Given the description of an element on the screen output the (x, y) to click on. 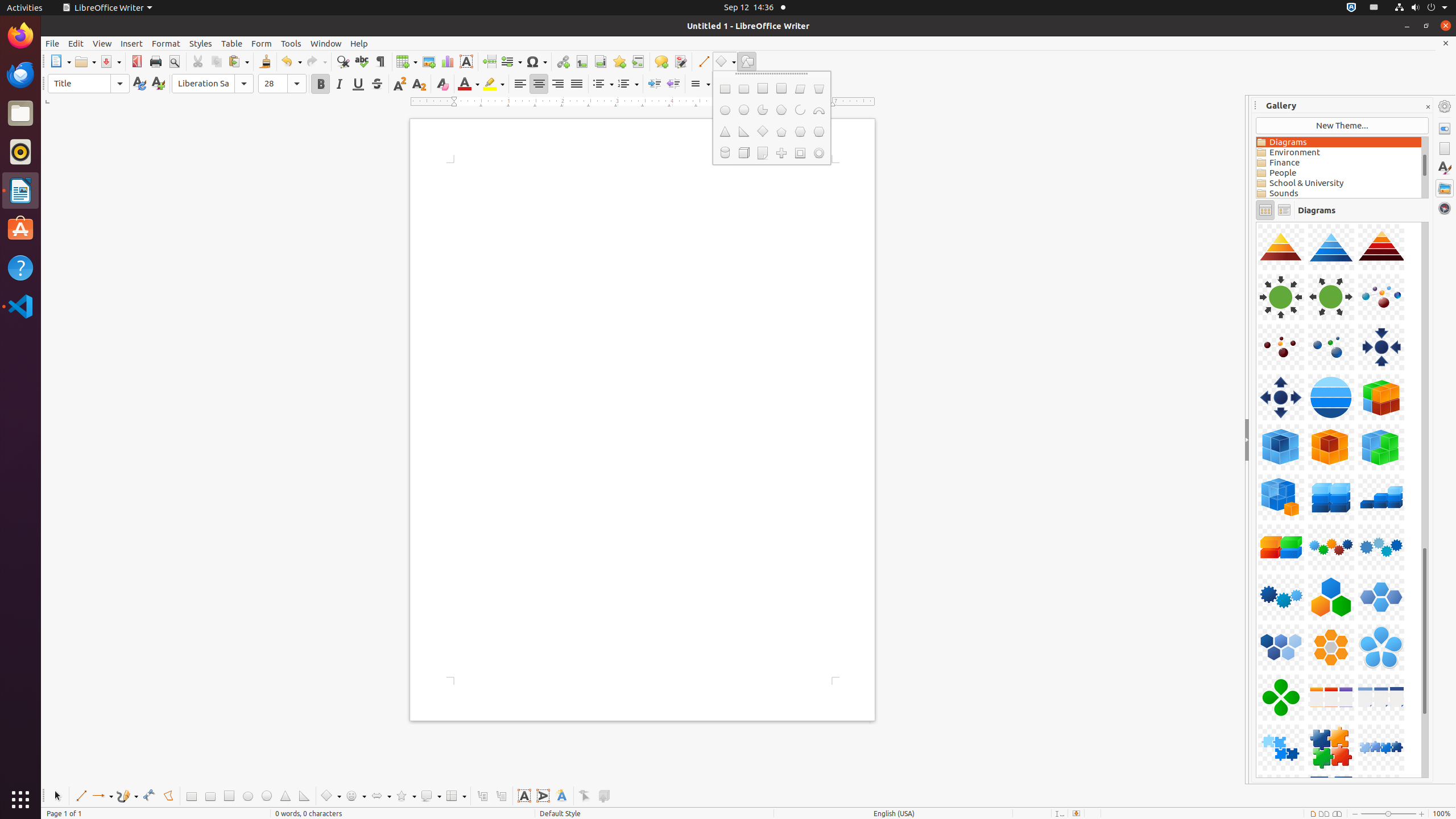
Left Element type: toggle-button (519, 83)
Window Element type: menu (325, 43)
Draw Functions Element type: toggle-button (746, 61)
Isosceles Triangle Element type: push-button (284, 795)
Diamond Element type: toggle-button (762, 131)
